Given the description of an element on the screen output the (x, y) to click on. 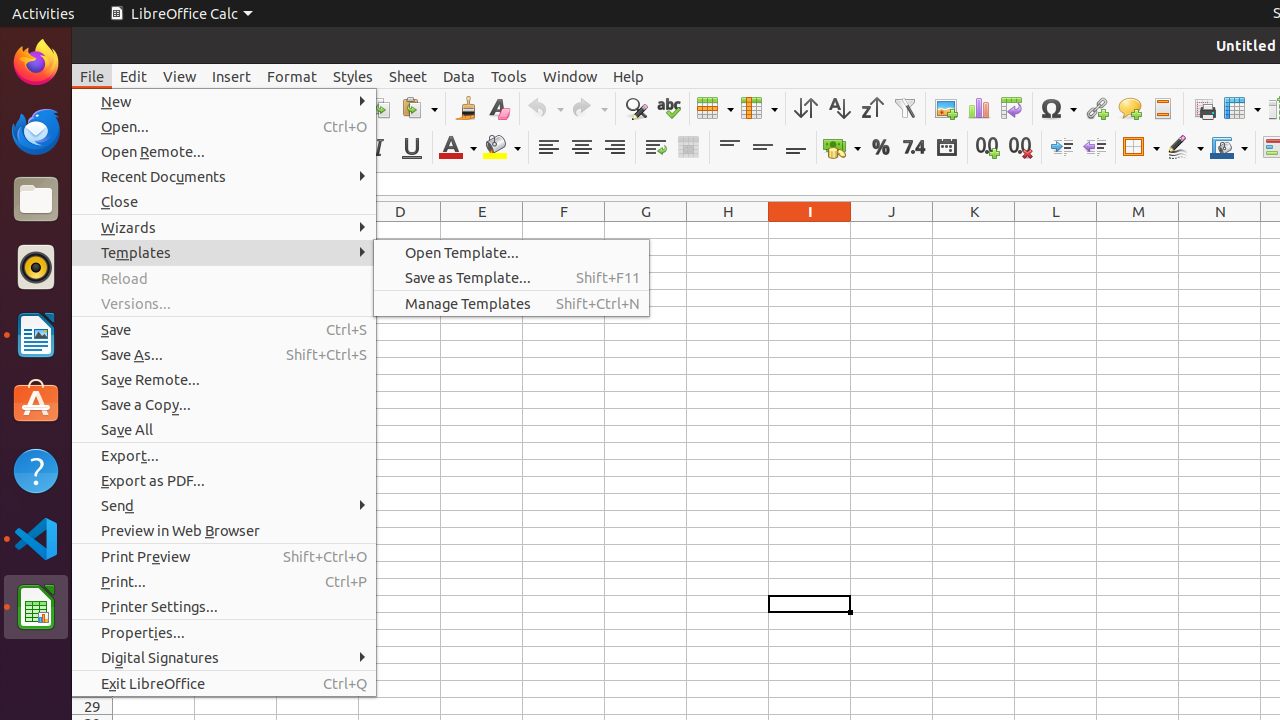
Reload Element type: menu-item (224, 278)
Tools Element type: menu (509, 76)
Print... Element type: menu-item (224, 581)
Wrap Text Element type: push-button (655, 147)
Delete Decimal Place Element type: push-button (1020, 147)
